Given the description of an element on the screen output the (x, y) to click on. 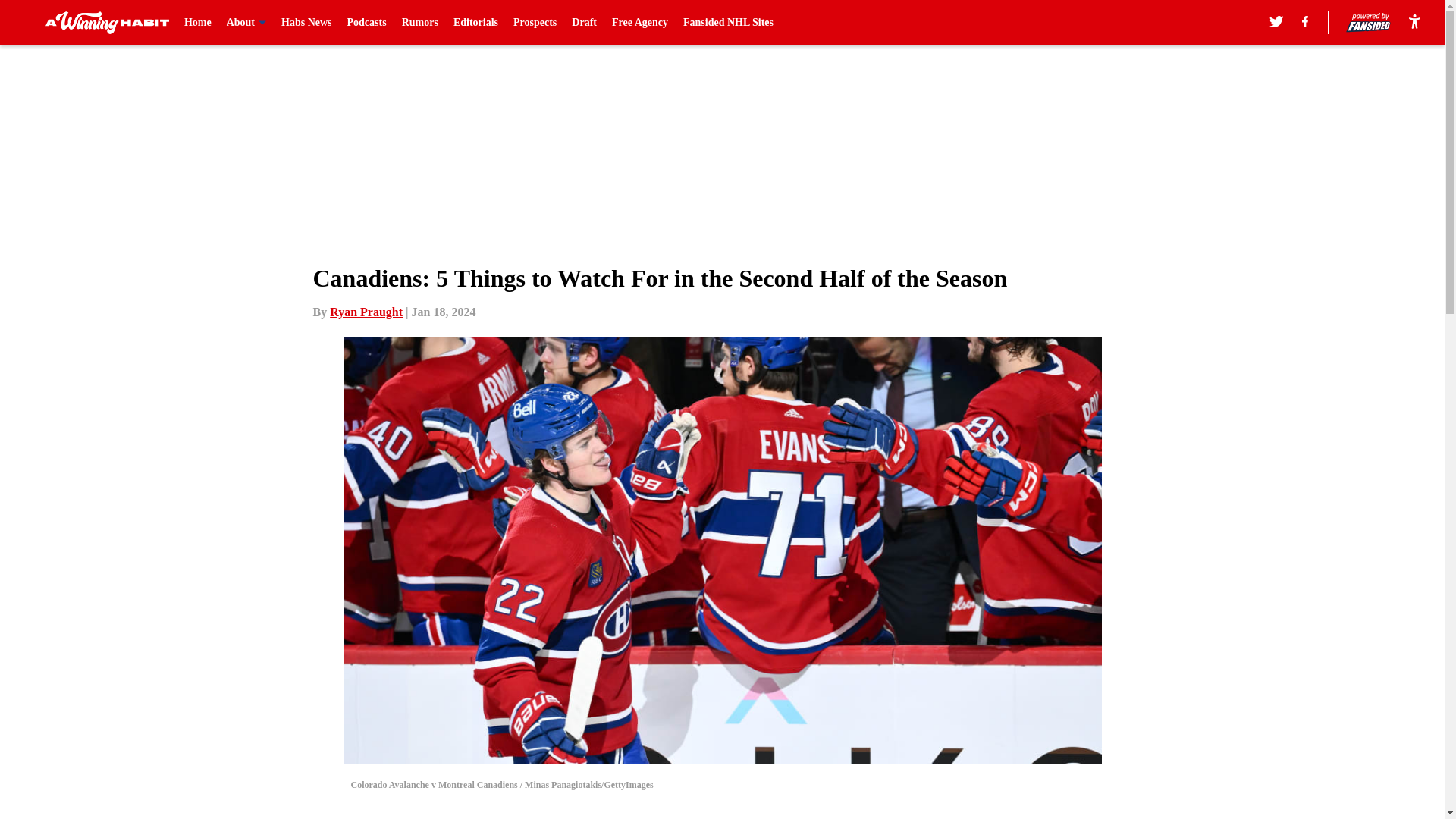
Prospects (534, 22)
Editorials (474, 22)
Rumors (419, 22)
Podcasts (367, 22)
Fansided NHL Sites (727, 22)
Habs News (306, 22)
Home (197, 22)
Ryan Praught (366, 311)
Free Agency (639, 22)
